Given the description of an element on the screen output the (x, y) to click on. 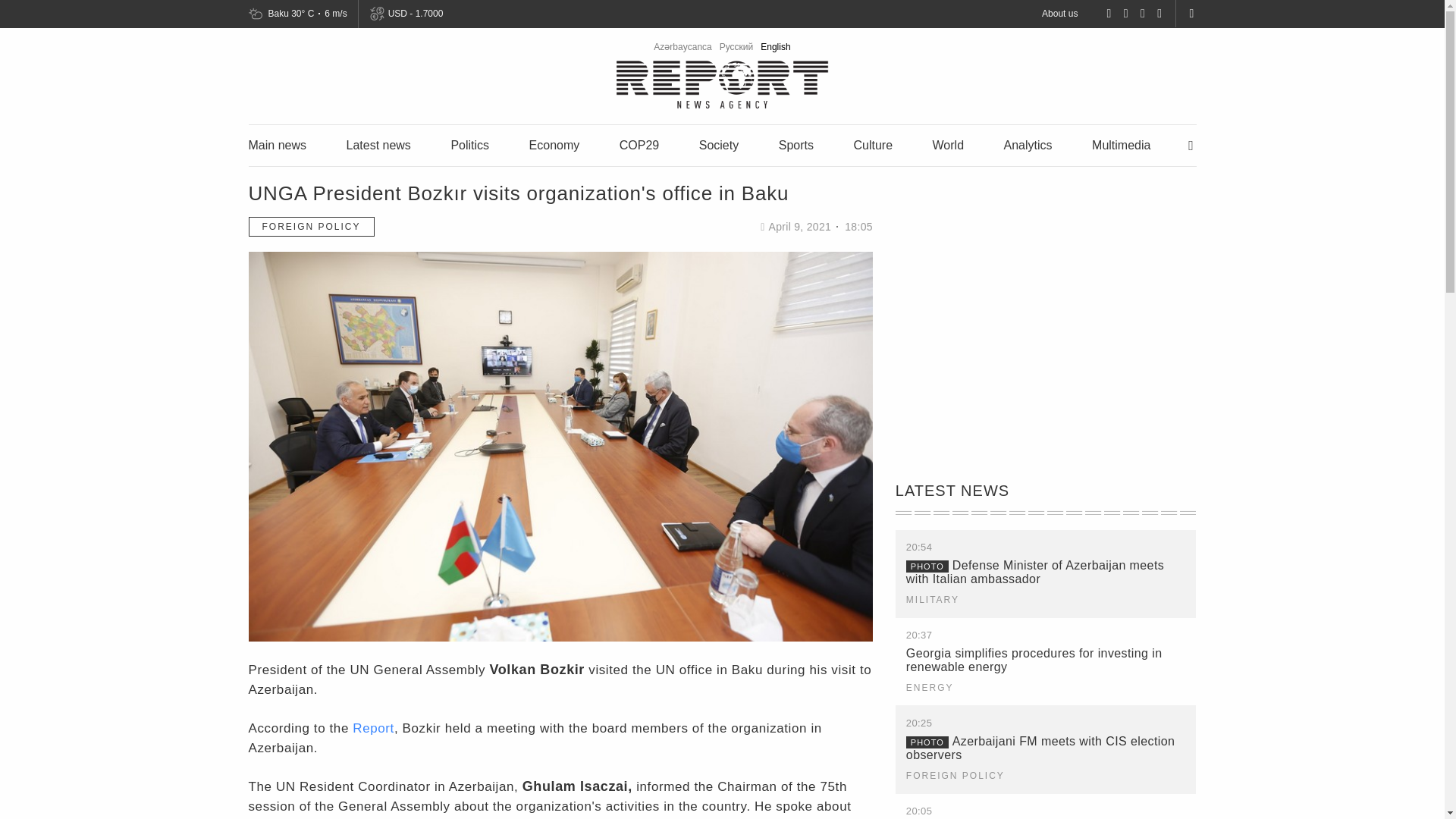
English (775, 46)
World (948, 144)
Latest news (378, 144)
Multimedia (1121, 144)
Culture (872, 144)
Main news (276, 144)
Society (718, 144)
Sports (795, 144)
USD - 1.7000 (414, 13)
Politics (469, 144)
